Given the description of an element on the screen output the (x, y) to click on. 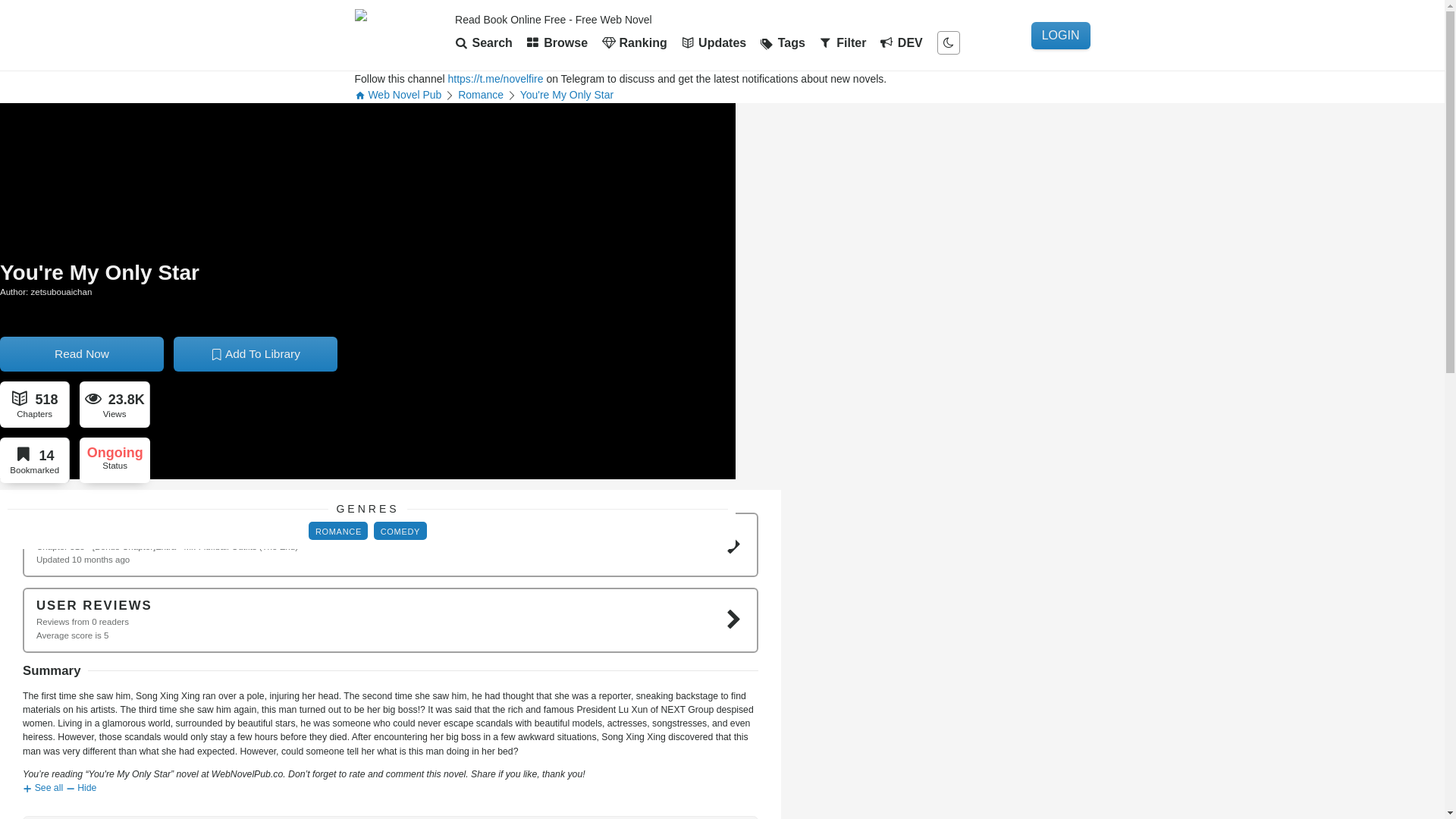
You're My Only Star (577, 144)
You're My Only Star (577, 144)
Read Novels Online for Free - Web Novel Pub (400, 35)
Romance (643, 456)
Explore All Novel Tags (785, 42)
Filter (845, 42)
Search Novels (486, 42)
DEV (903, 42)
Search Novels with Advanced Filtering Function (845, 42)
You're My Only Star Novel User Reviews (911, 607)
Browse (559, 42)
Novel Ranking (637, 42)
You're My Only Star Novel Chapters (534, 607)
Updates (716, 42)
Read You're My Only Star Novel Online Free (689, 503)
